Given the description of an element on the screen output the (x, y) to click on. 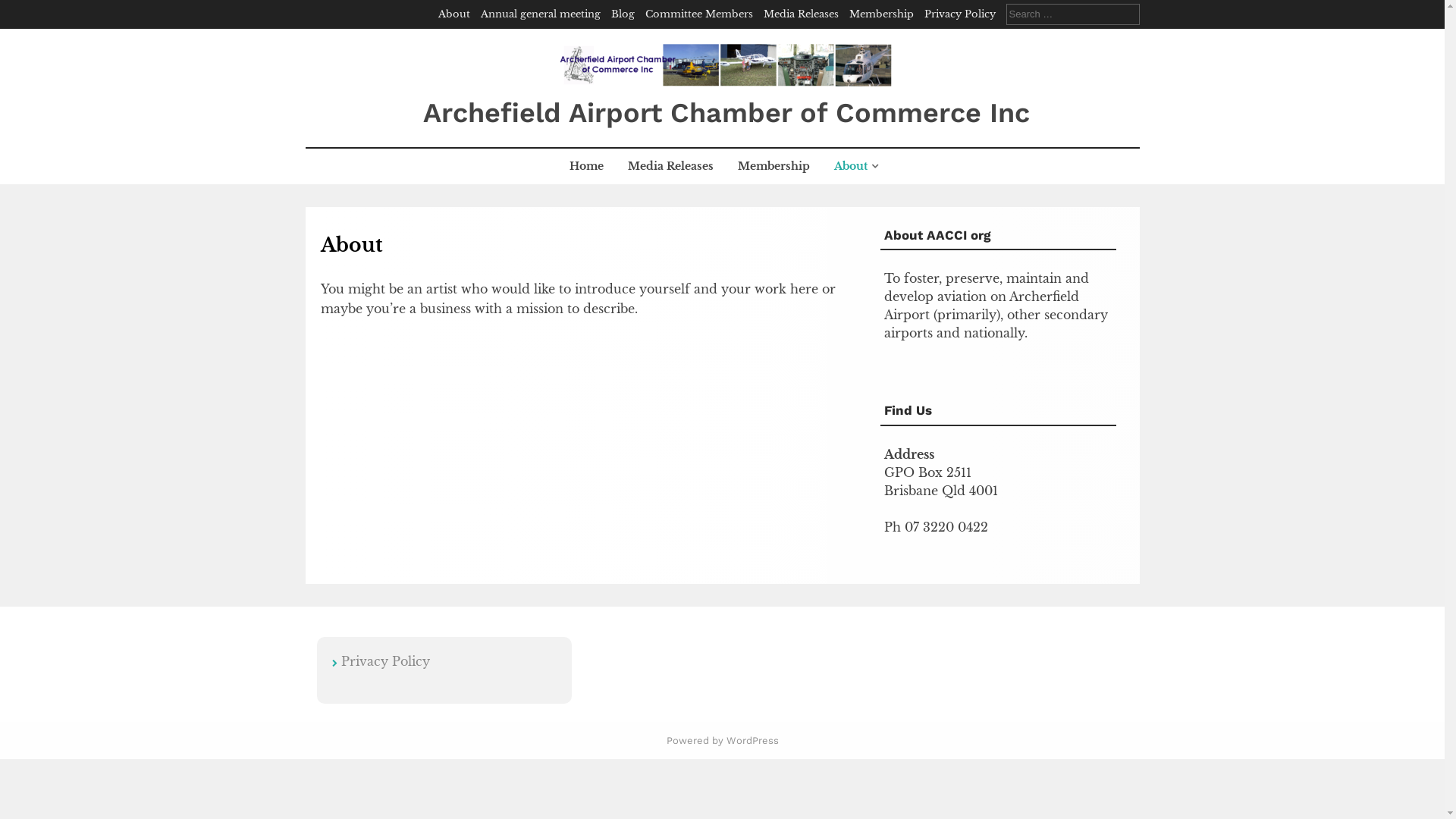
Membership Element type: text (881, 13)
Media Releases Element type: text (799, 13)
Archefield Airport Chamber of Commerce Inc Element type: text (726, 112)
About Element type: text (854, 166)
Privacy Policy Element type: text (958, 13)
Privacy Policy Element type: text (385, 660)
Search Element type: text (23, 9)
Annual general meeting Element type: text (540, 13)
Home Element type: text (586, 166)
Membership Element type: text (773, 166)
Committee Members Element type: text (698, 13)
Blog Element type: text (622, 13)
Media Releases Element type: text (670, 166)
About Element type: text (454, 13)
